Given the description of an element on the screen output the (x, y) to click on. 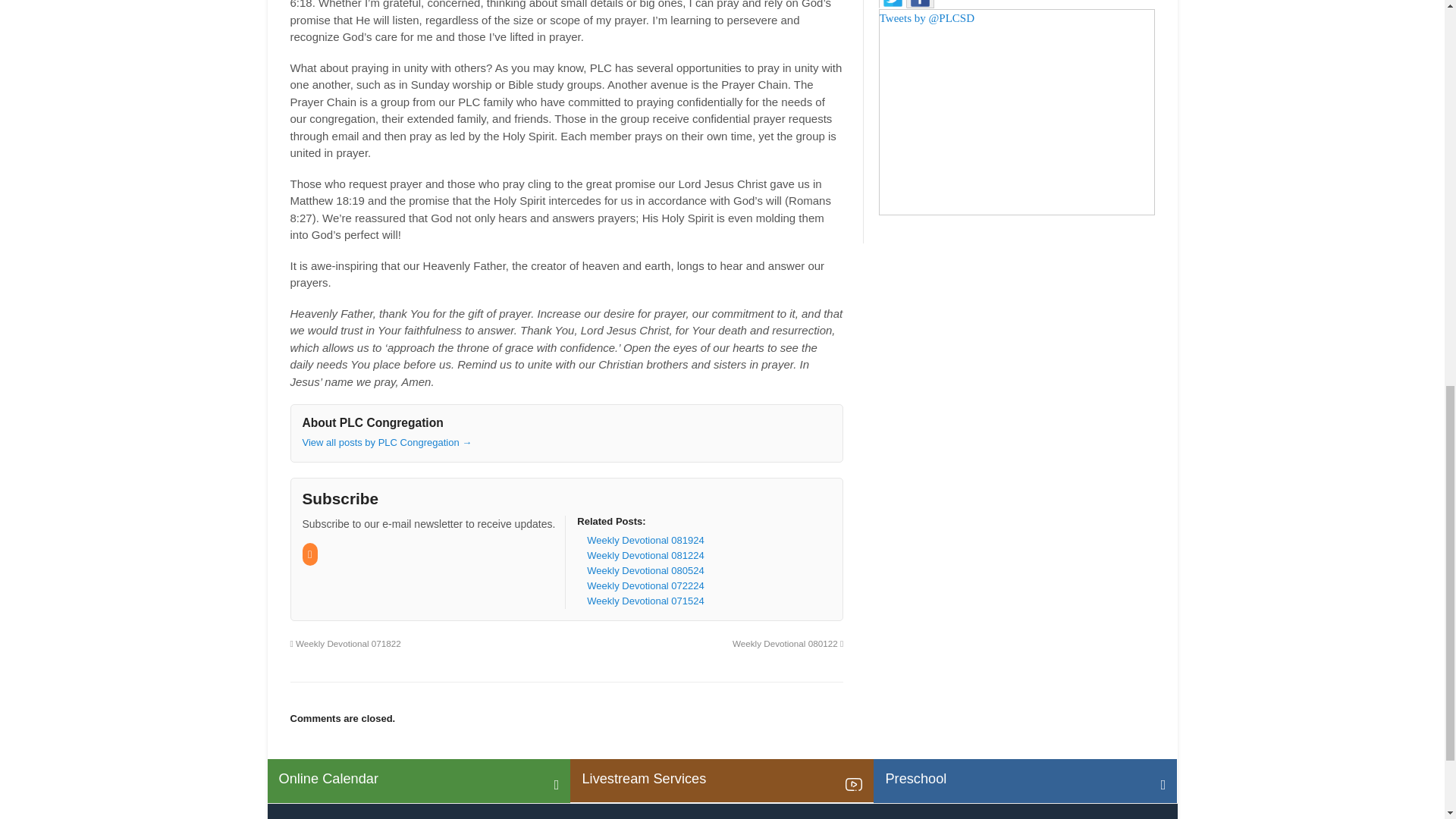
Weekly Devotional 081224 (644, 555)
Weekly Devotional 072224 (644, 585)
Weekly Devotional 081924 (644, 540)
Weekly Devotional 080524 (644, 570)
Weekly Devotional 071524 (644, 600)
RSS (309, 554)
